Given the description of an element on the screen output the (x, y) to click on. 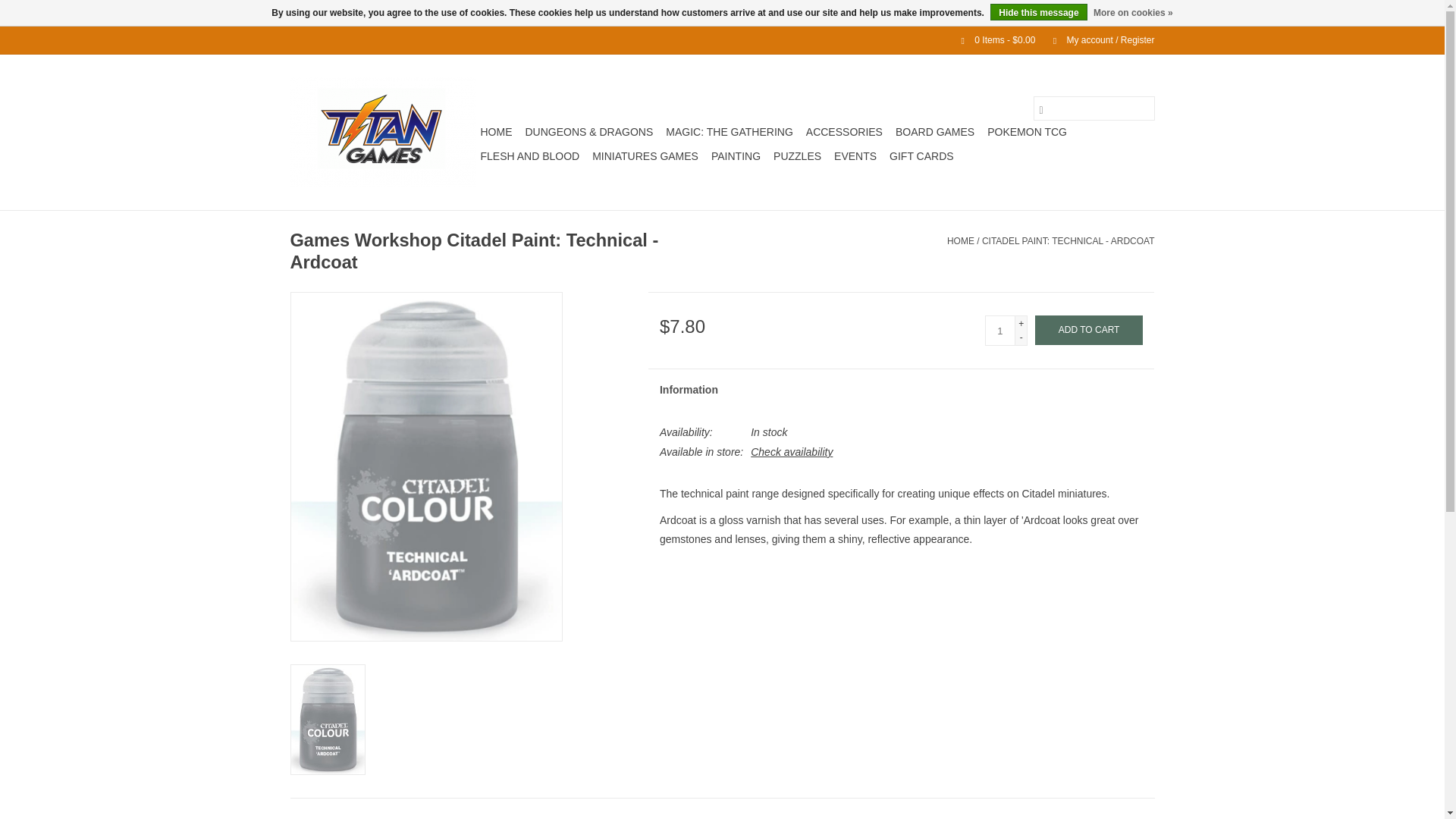
1 (999, 330)
Accessories (844, 131)
ACCESSORIES (844, 131)
My account (1096, 40)
PAINTING (735, 156)
MAGIC: THE GATHERING (729, 131)
FLESH AND BLOOD (530, 156)
Cart (992, 40)
Titan Games (382, 131)
Magic: The Gathering (729, 131)
